Given the description of an element on the screen output the (x, y) to click on. 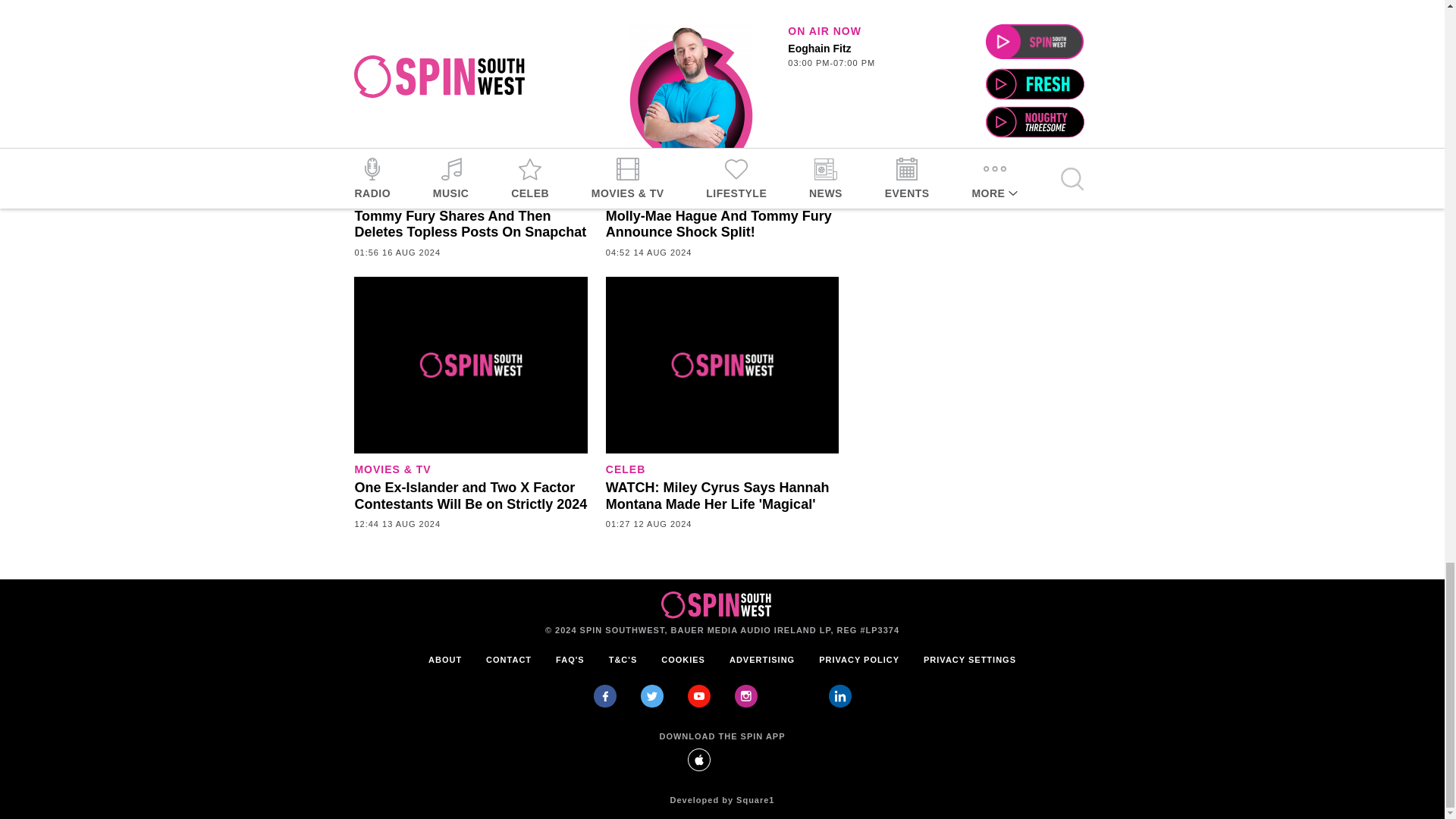
FAQ's (569, 659)
About (445, 659)
Contact (508, 659)
